Given the description of an element on the screen output the (x, y) to click on. 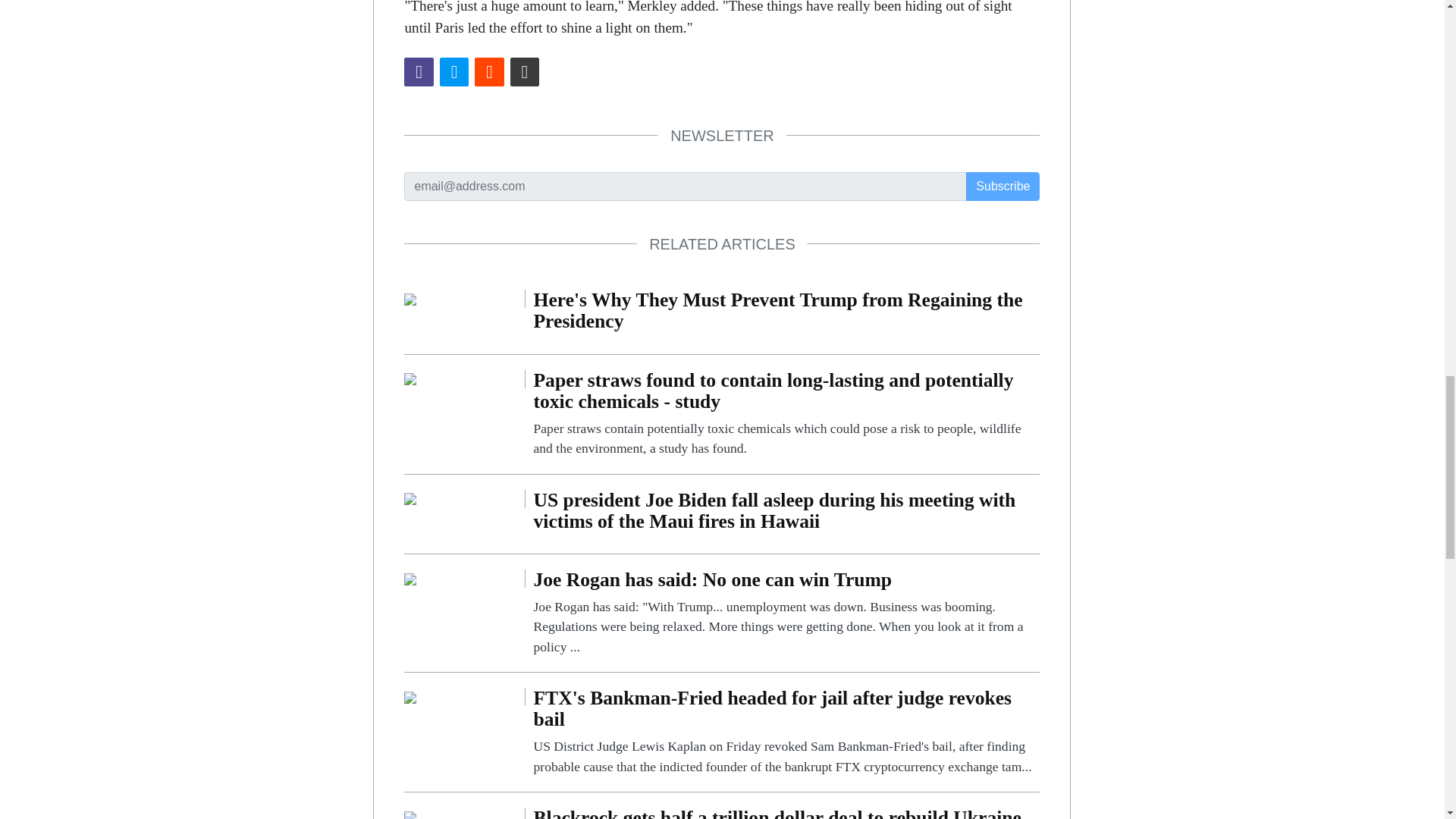
Joe Rogan has said: No one can win Trump (785, 612)
Subscribe (1002, 185)
Joe Rogan has said: No one can win Trump (410, 577)
